Given the description of an element on the screen output the (x, y) to click on. 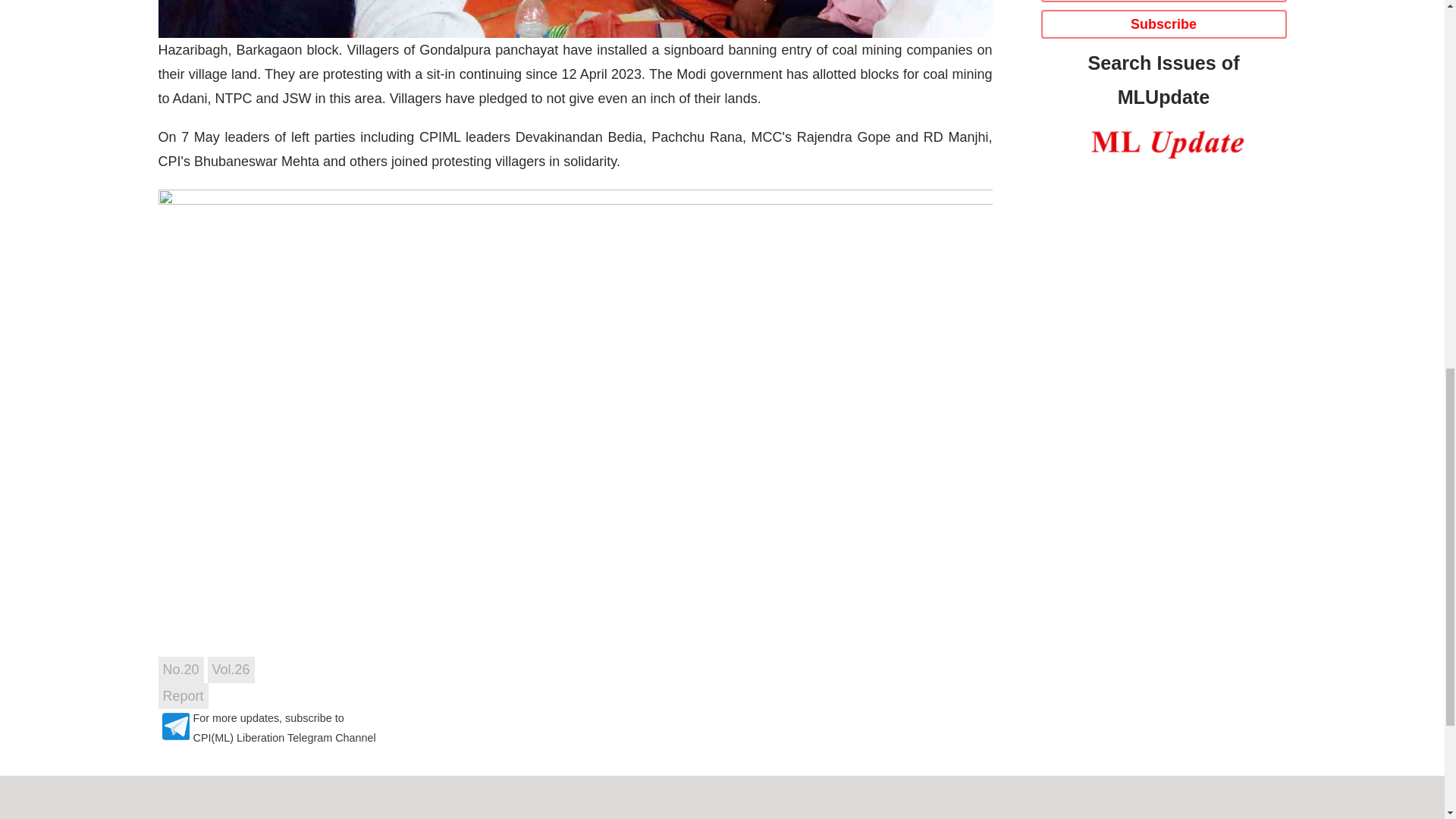
Subscribe (1163, 23)
Report (182, 696)
Subscribe (1163, 23)
No.20 (180, 669)
Vol.26 (231, 669)
Report (182, 695)
